Given the description of an element on the screen output the (x, y) to click on. 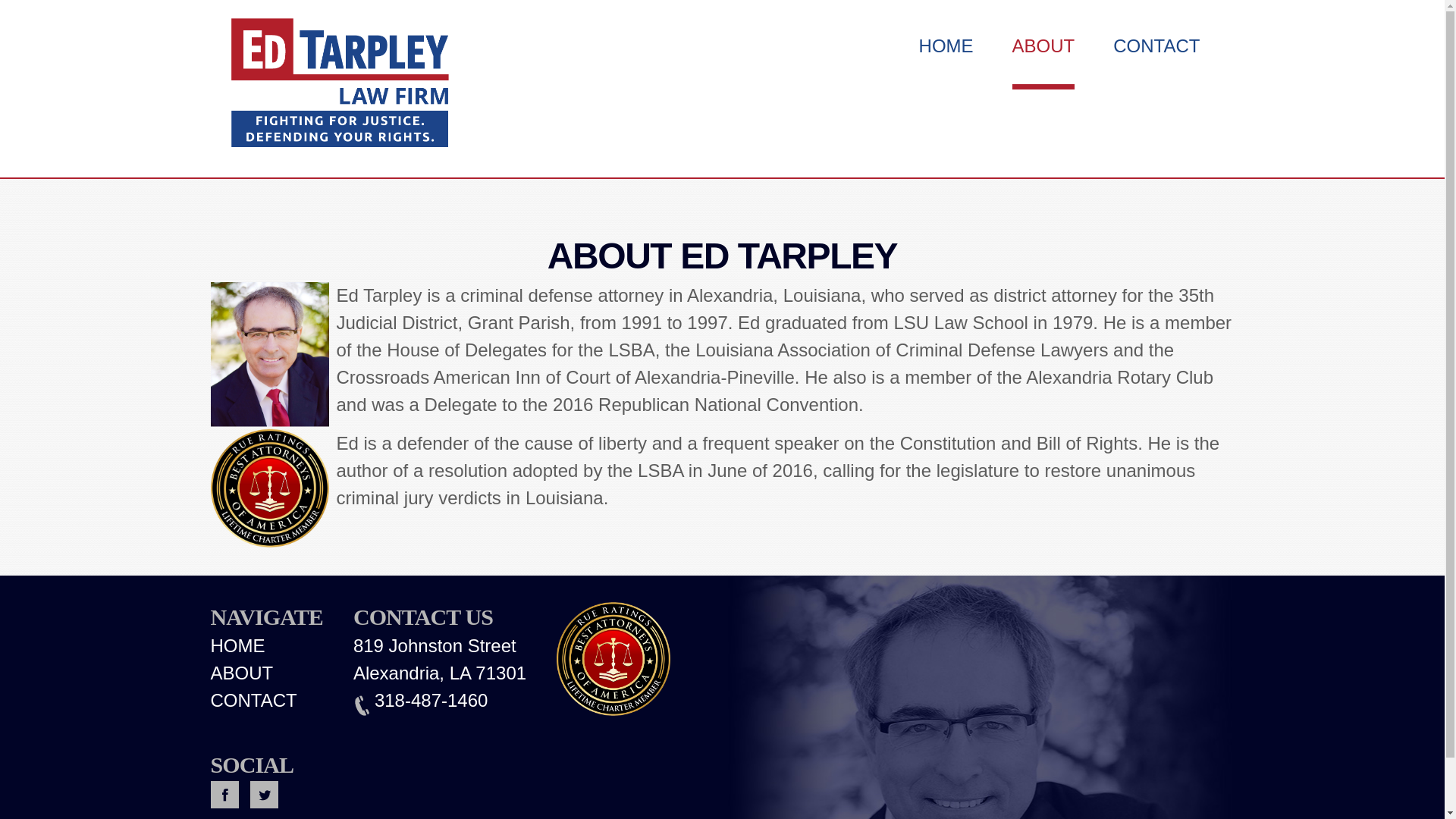
CONTACT (1156, 48)
ABOUT (242, 672)
CONTACT (254, 700)
HOME (237, 645)
Ed Tarpley Law Firm (339, 86)
